Given the description of an element on the screen output the (x, y) to click on. 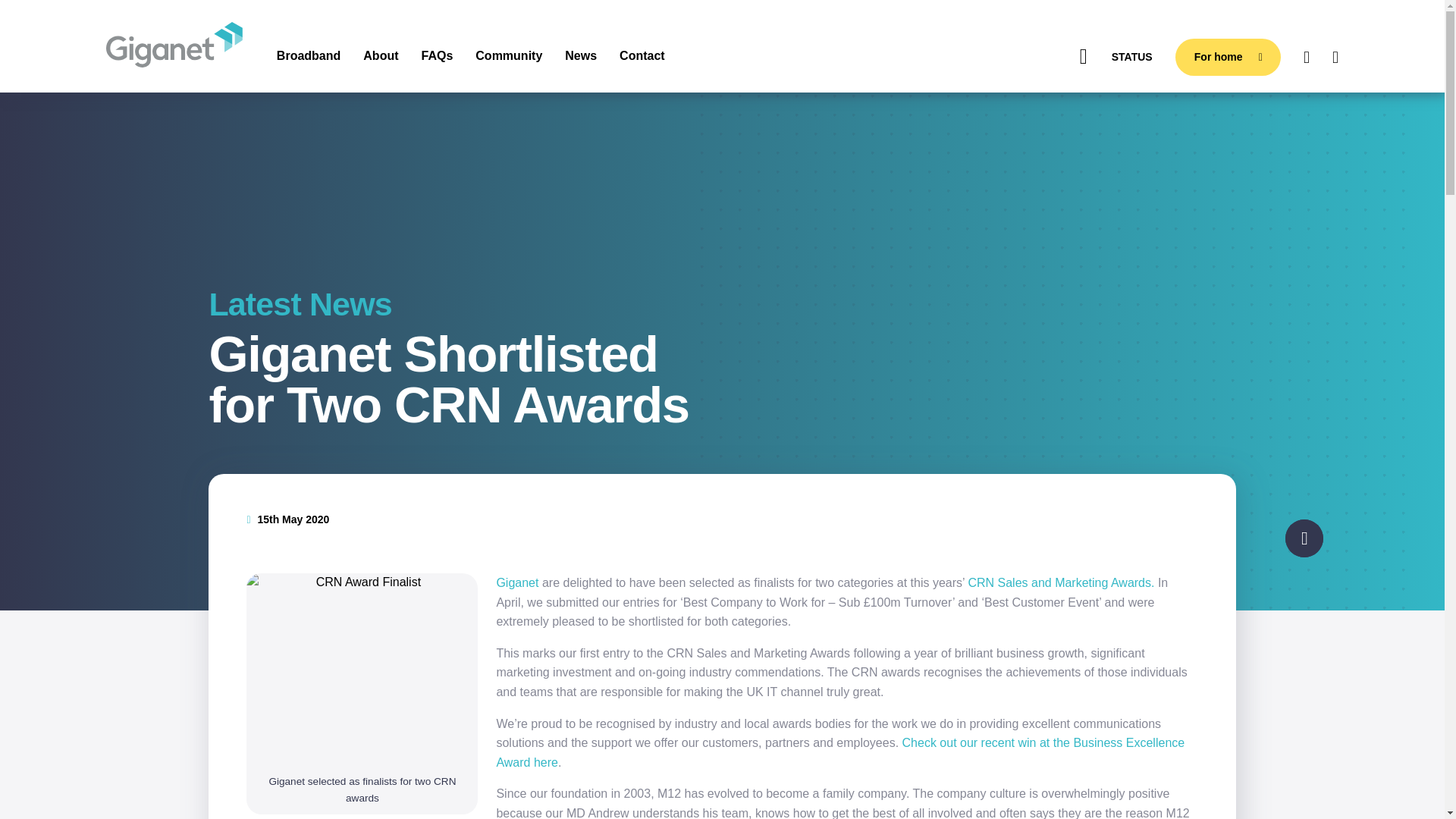
View all news (465, 304)
Click to find out more about our current system status (1110, 57)
